Given the description of an element on the screen output the (x, y) to click on. 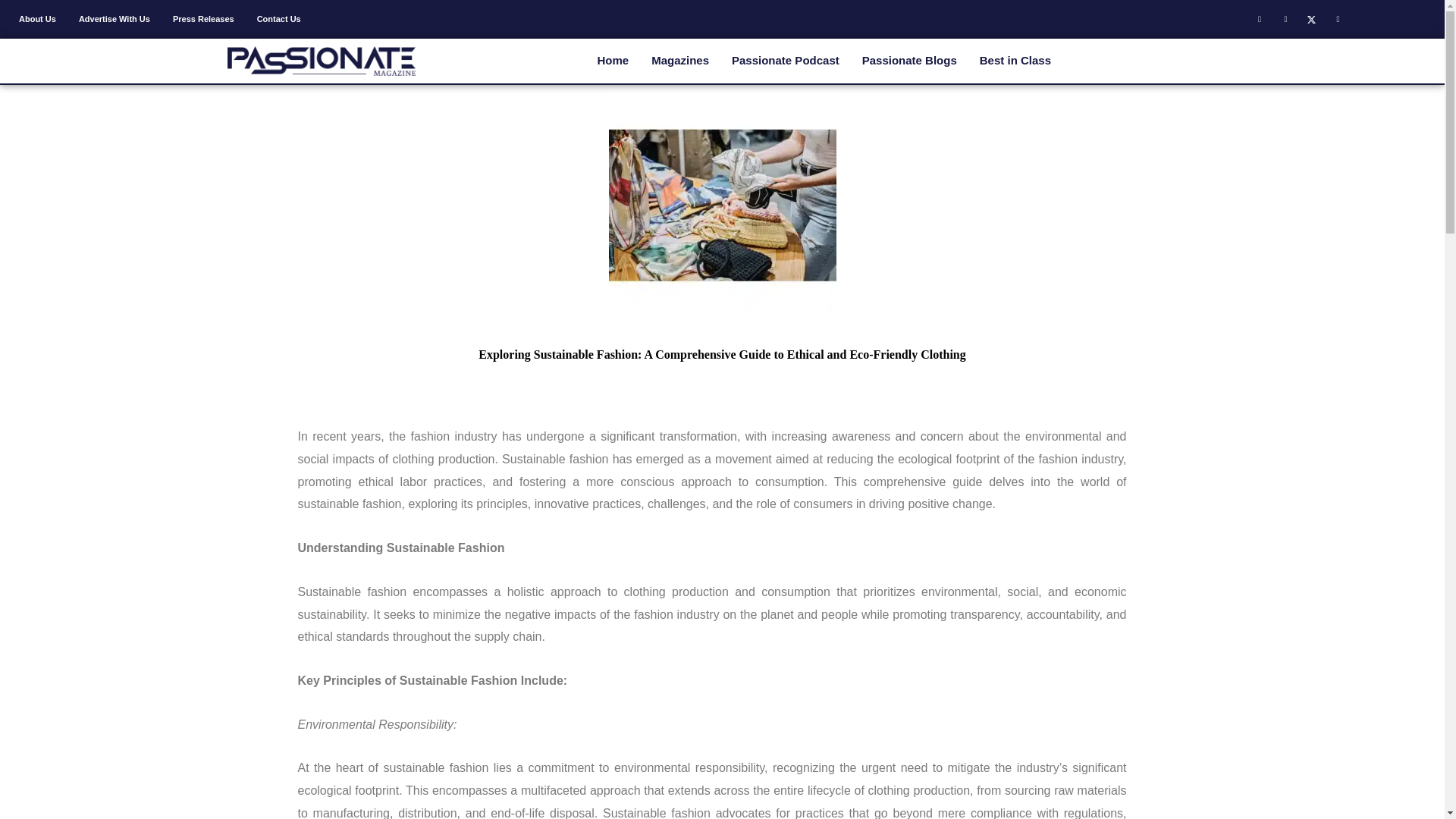
Passionate Blogs (909, 60)
Best in Class (1015, 60)
Magazines (680, 60)
Advertise With Us (113, 18)
Press Releases (203, 18)
Home (612, 60)
About Us (36, 18)
Contact Us (279, 18)
Passionate Podcast (785, 60)
